Given the description of an element on the screen output the (x, y) to click on. 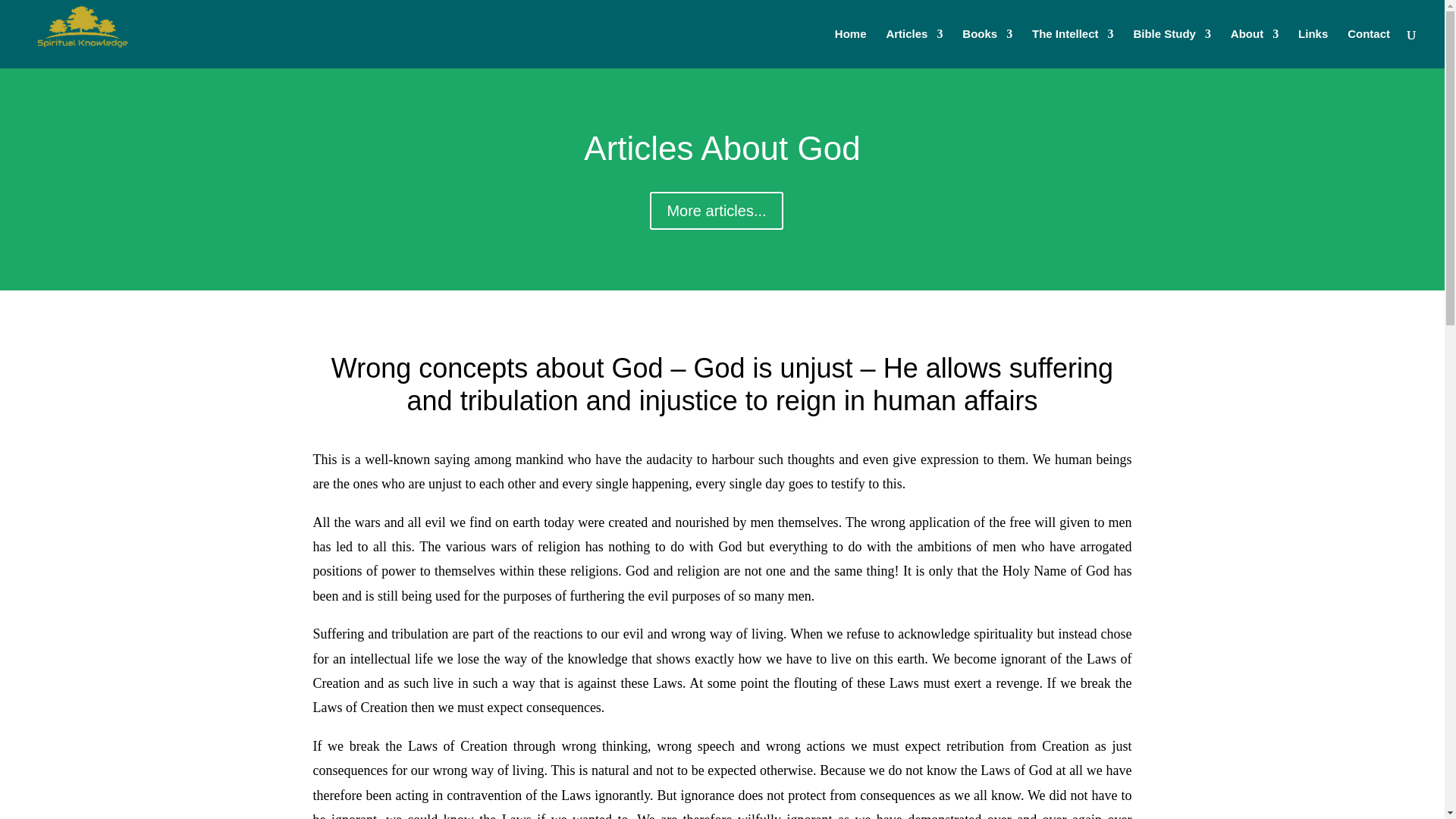
The Intellect (1072, 47)
Bible Study (1171, 47)
About (1254, 47)
Books (986, 47)
Articles (913, 47)
